Given the description of an element on the screen output the (x, y) to click on. 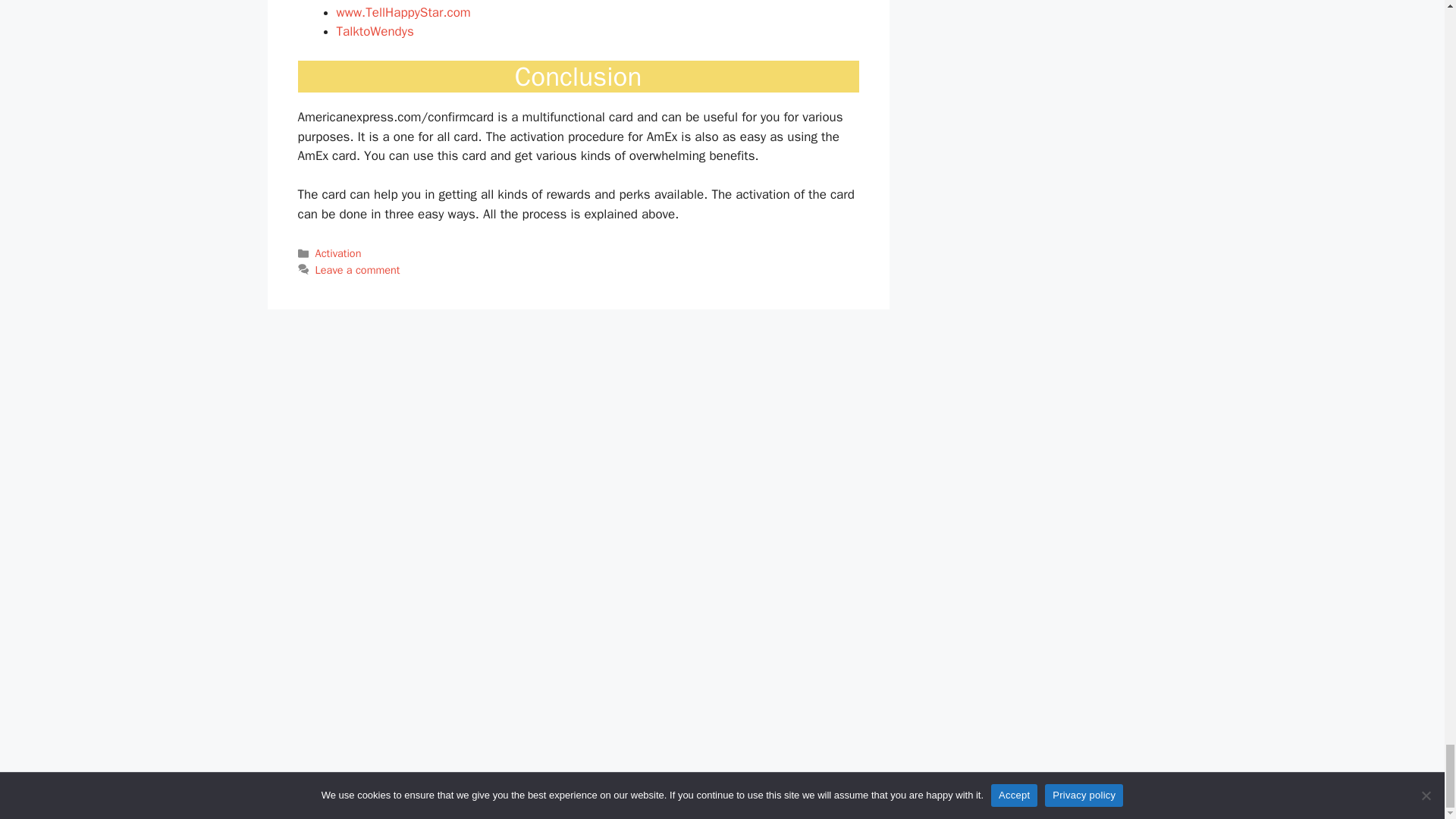
www.TellHappyStar.com (403, 12)
TalktoWendys (374, 31)
Leave a comment (357, 269)
Activation (338, 253)
